Given the description of an element on the screen output the (x, y) to click on. 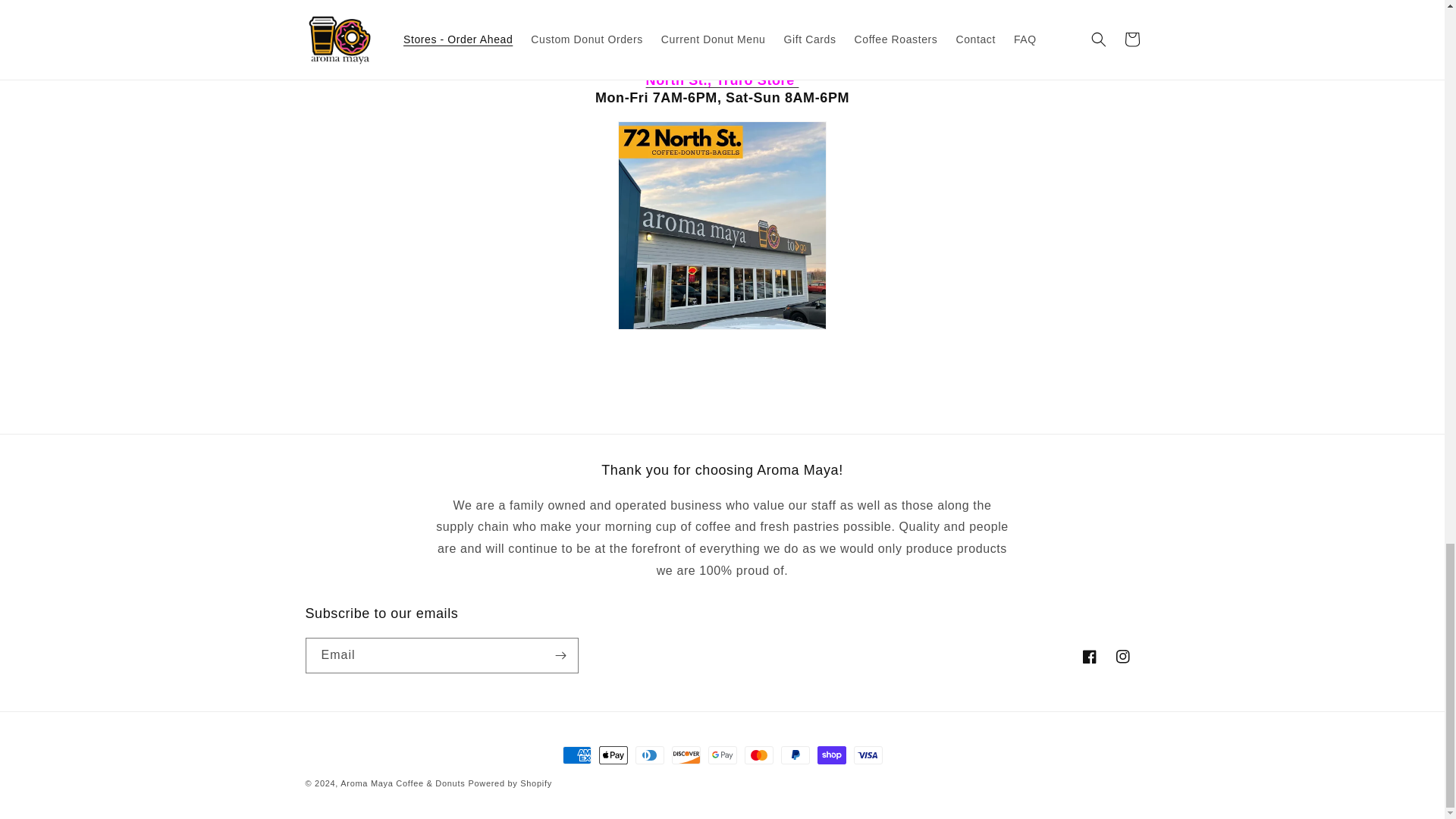
Young St. - Order Ahead (721, 26)
North St., Truro Store  (722, 79)
Instagram (1121, 656)
North St. - Order Ahead (721, 225)
North St. - Order Ahead (722, 79)
Facebook (1088, 656)
